Given the description of an element on the screen output the (x, y) to click on. 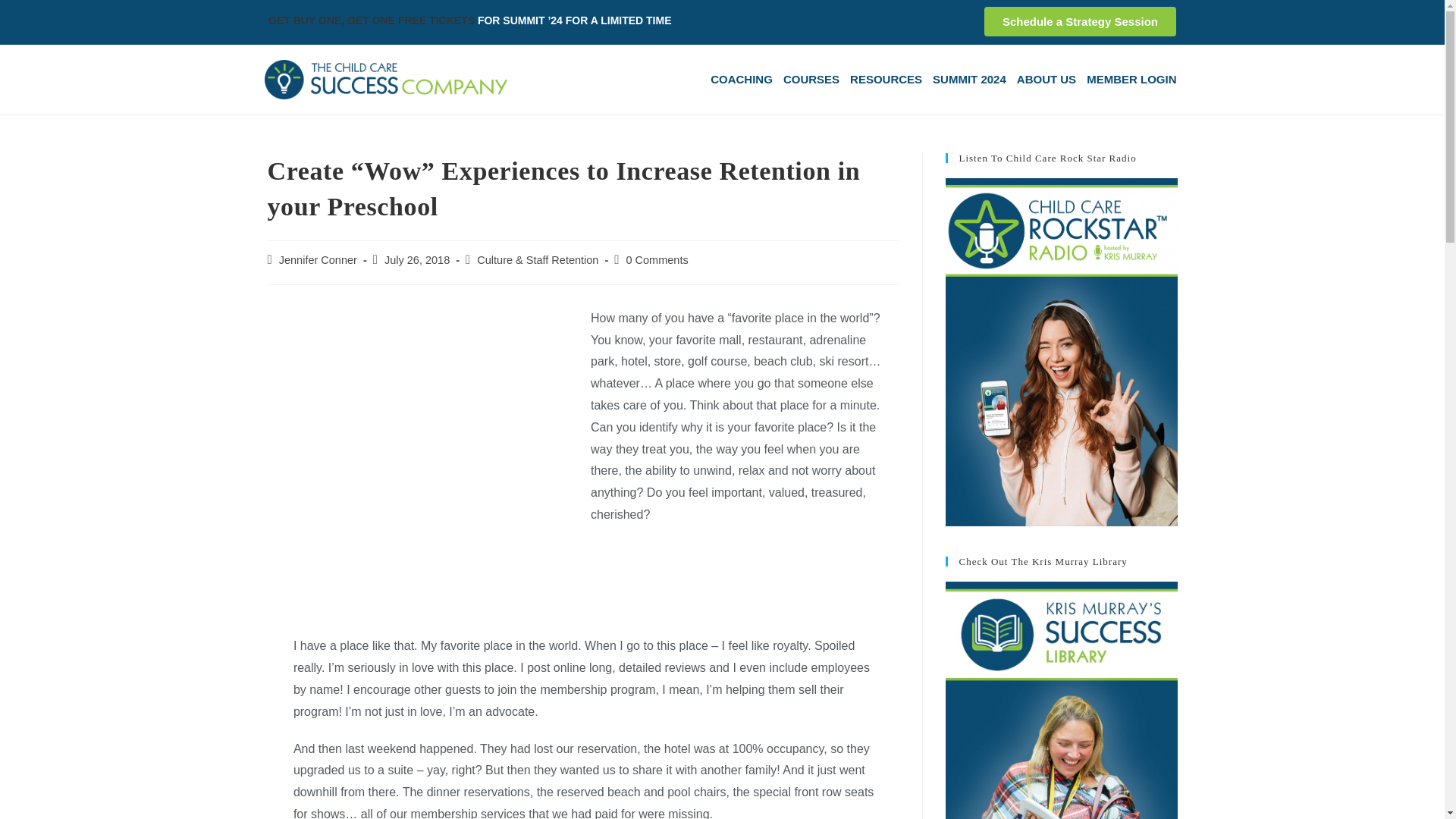
ABOUT US (1045, 79)
Schedule a Strategy Session (1080, 21)
MEMBER LOGIN (1131, 79)
COACHING (741, 79)
GET BUY ONE, GET ONE FREE TICKETS (370, 20)
SUMMIT 2024 (969, 79)
RESOURCES (885, 79)
COURSES (811, 79)
Posts by Jennifer Conner (317, 259)
